Given the description of an element on the screen output the (x, y) to click on. 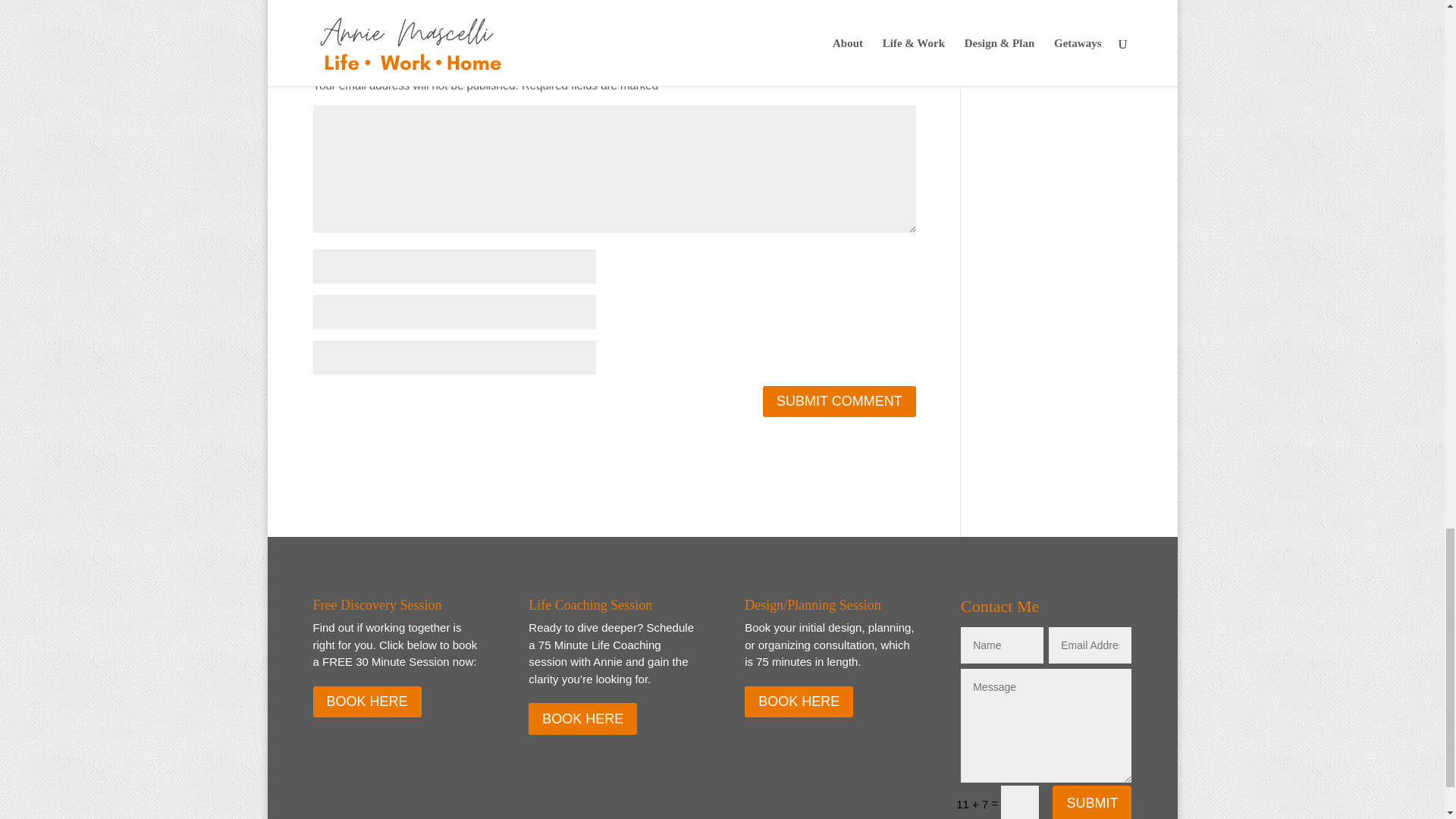
BOOK HERE (798, 701)
Submit Comment (838, 400)
Submit Comment (838, 400)
BOOK HERE (582, 717)
SUBMIT (1091, 802)
BOOK HERE (366, 701)
